Given the description of an element on the screen output the (x, y) to click on. 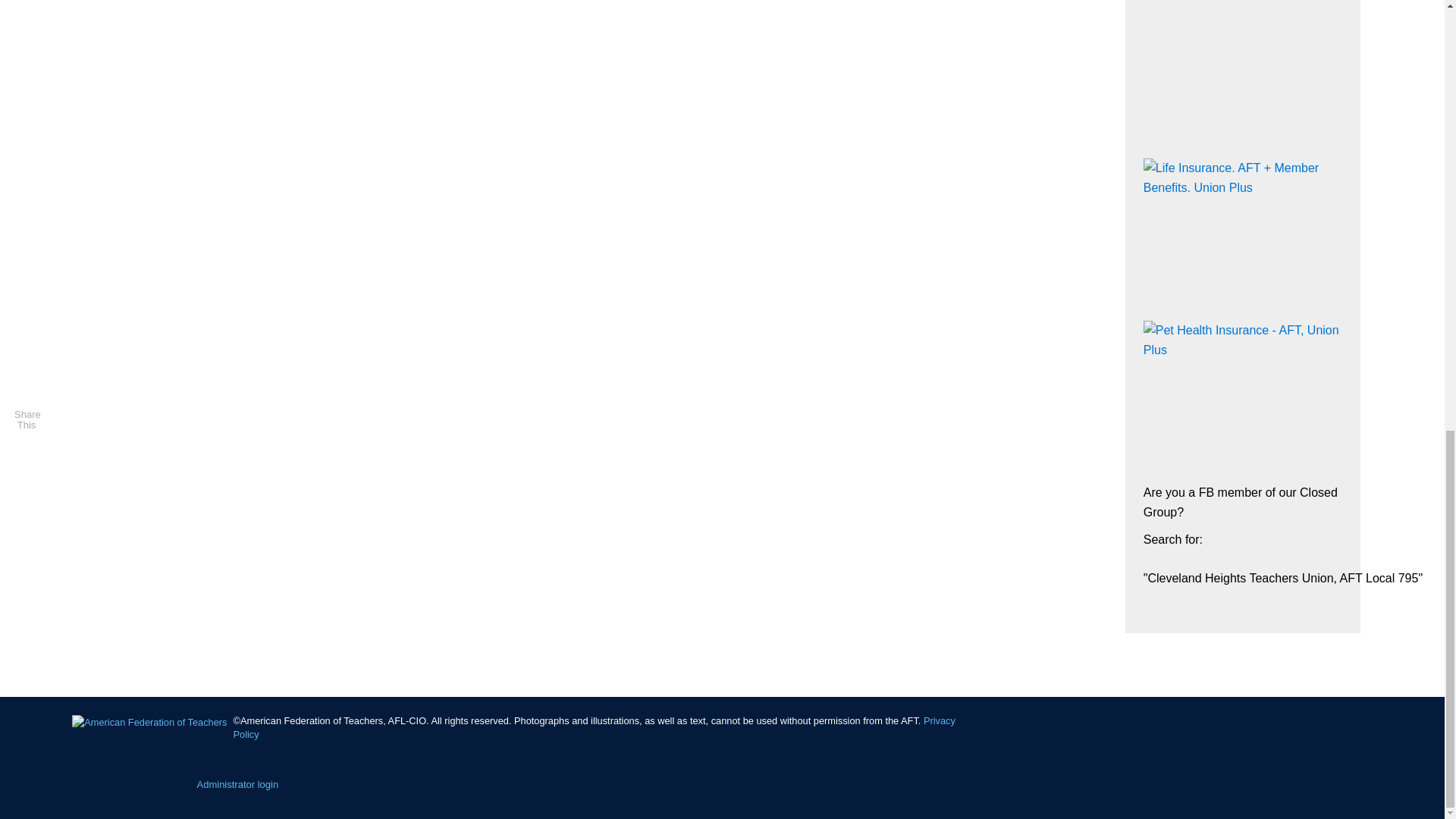
Administrator login (237, 784)
Privacy Policy (593, 727)
